Given the description of an element on the screen output the (x, y) to click on. 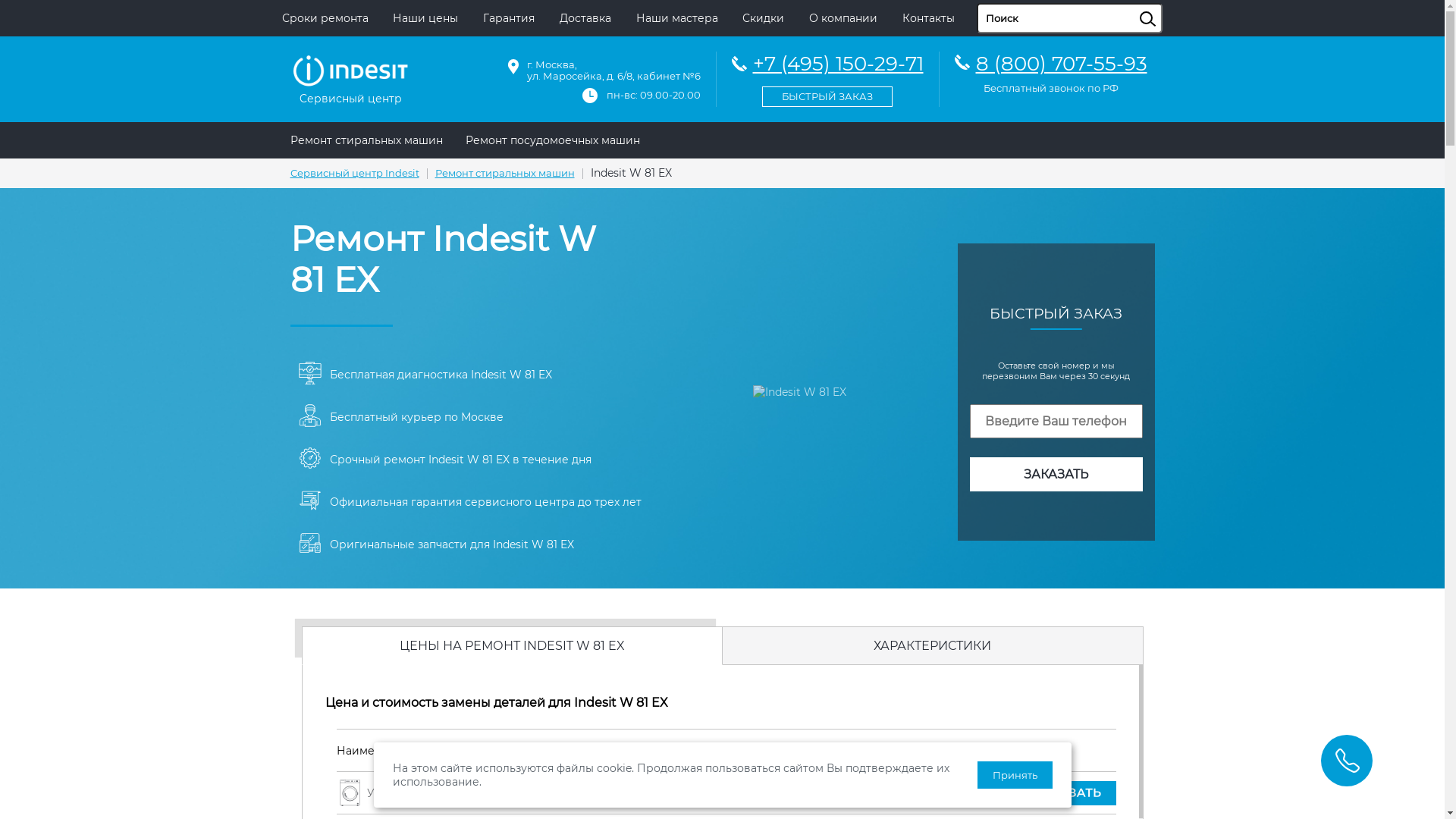
+7 (495) 150-29-71 Element type: text (826, 77)
sisea.search Element type: text (1165, 3)
8 (800) 707-55-93 Element type: text (1060, 63)
